Given the description of an element on the screen output the (x, y) to click on. 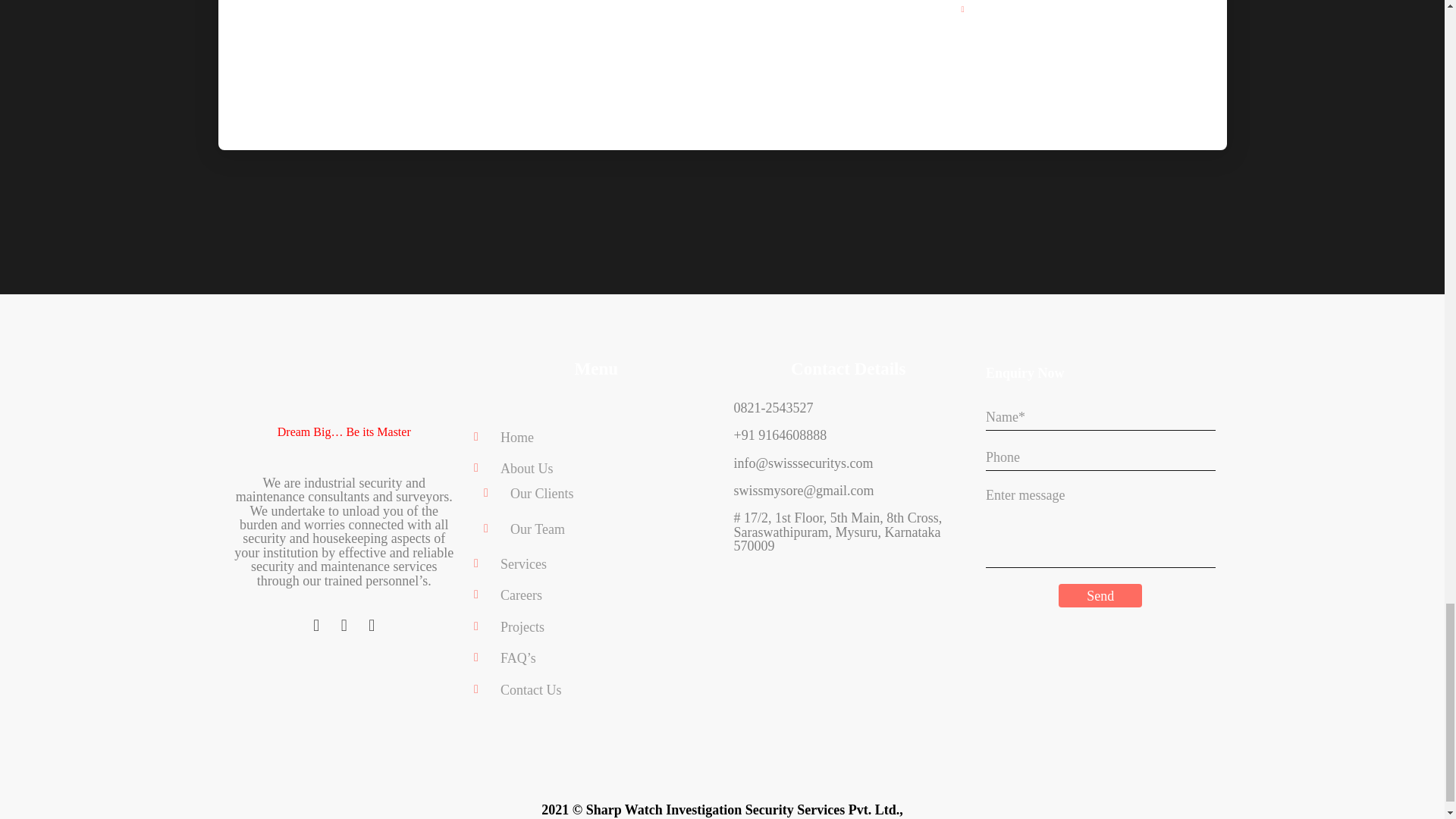
Send (1099, 595)
